Given the description of an element on the screen output the (x, y) to click on. 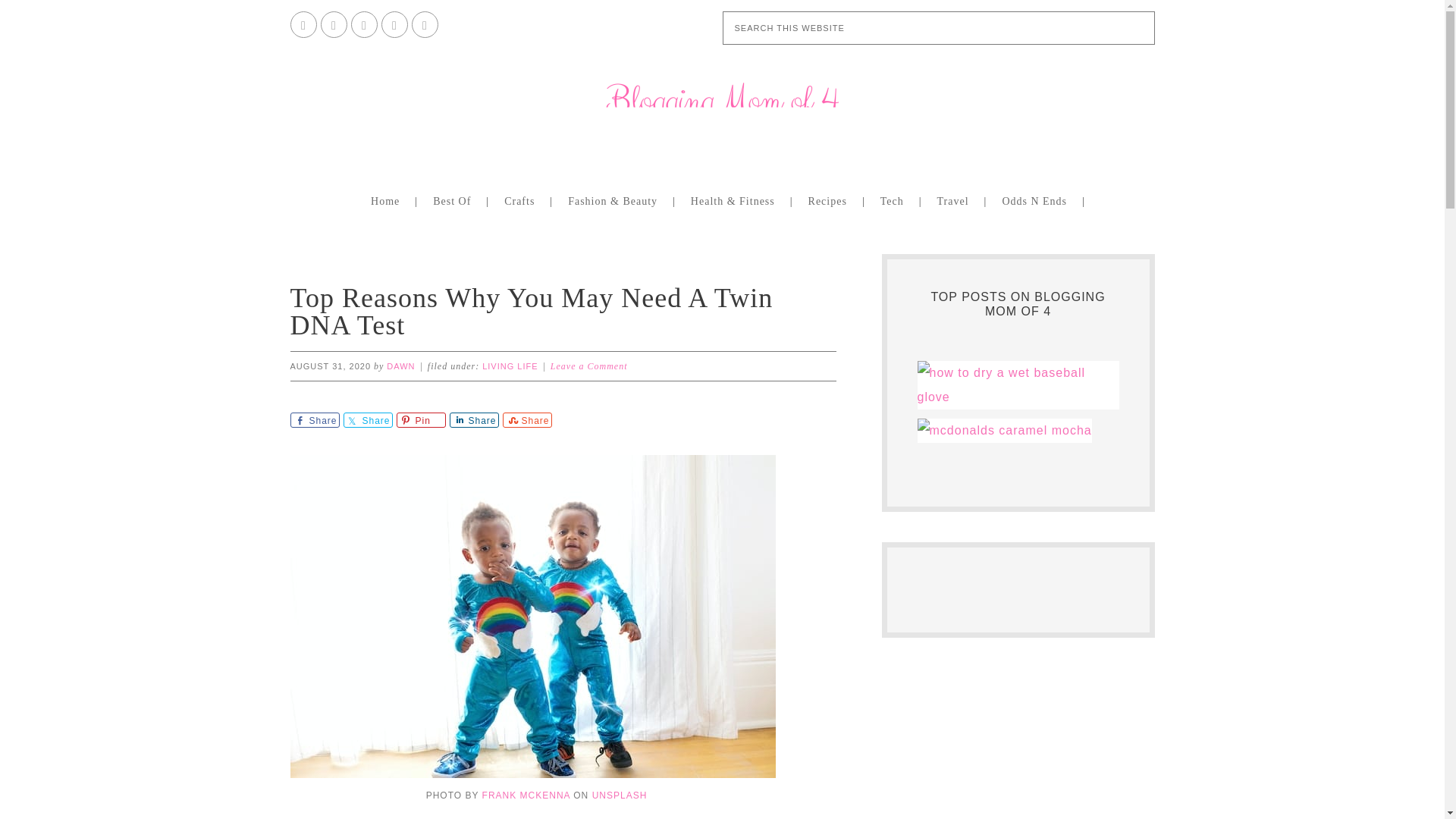
Best Of (455, 200)
Blogging Mom of 4 (721, 109)
Travel (956, 200)
DAWN (400, 366)
Odds N Ends (1037, 200)
Home (388, 200)
Recipes (830, 200)
Tech (895, 200)
Crafts (523, 200)
